Given the description of an element on the screen output the (x, y) to click on. 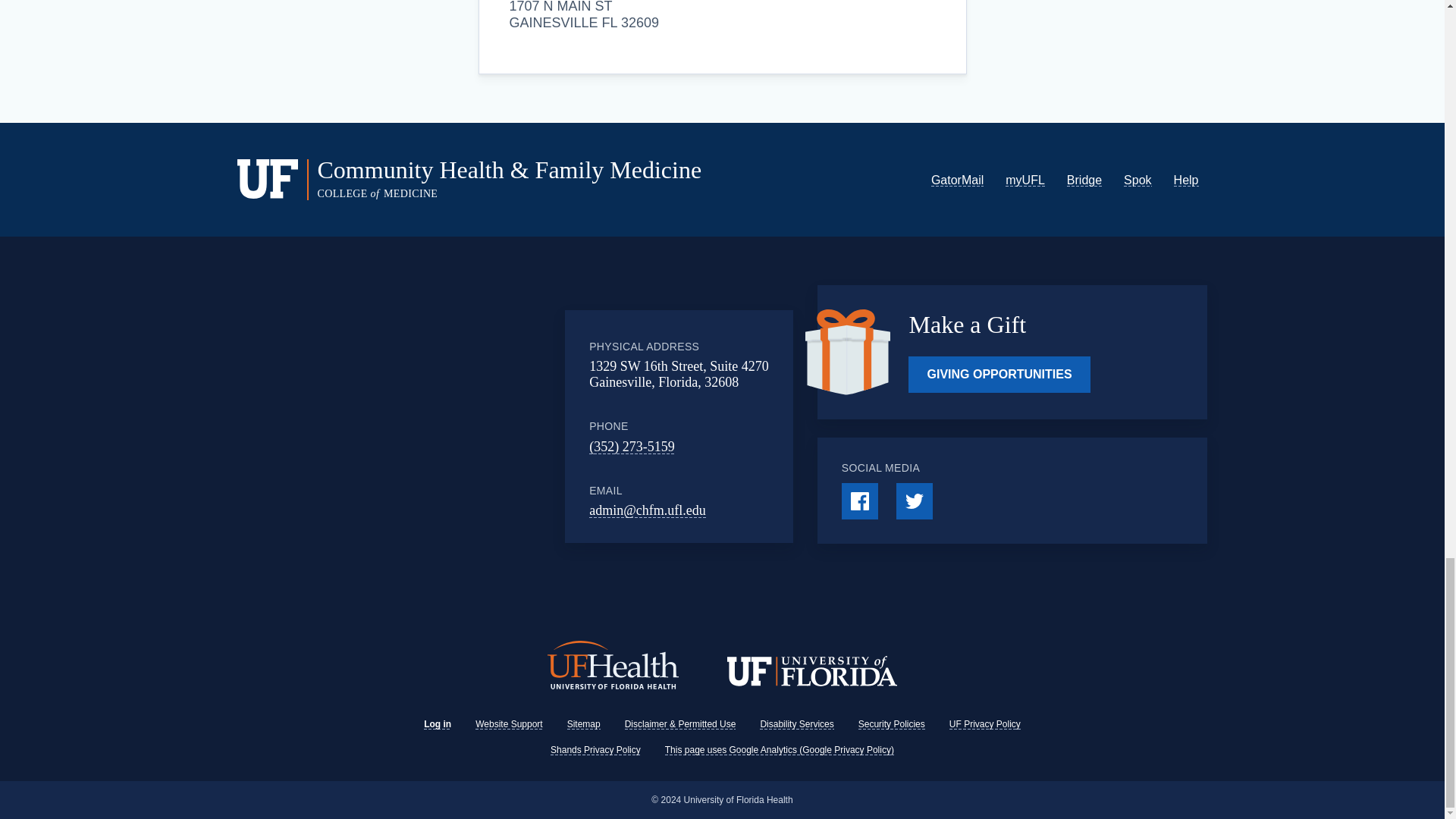
Spok (1137, 179)
Google Maps Embed (448, 425)
Sitemap (583, 724)
GatorMail (957, 179)
Help (1185, 179)
Bridge (1084, 179)
myUFL (1025, 179)
UF Privacy Policy (984, 724)
Log in (437, 724)
Disability Services (796, 724)
